Given the description of an element on the screen output the (x, y) to click on. 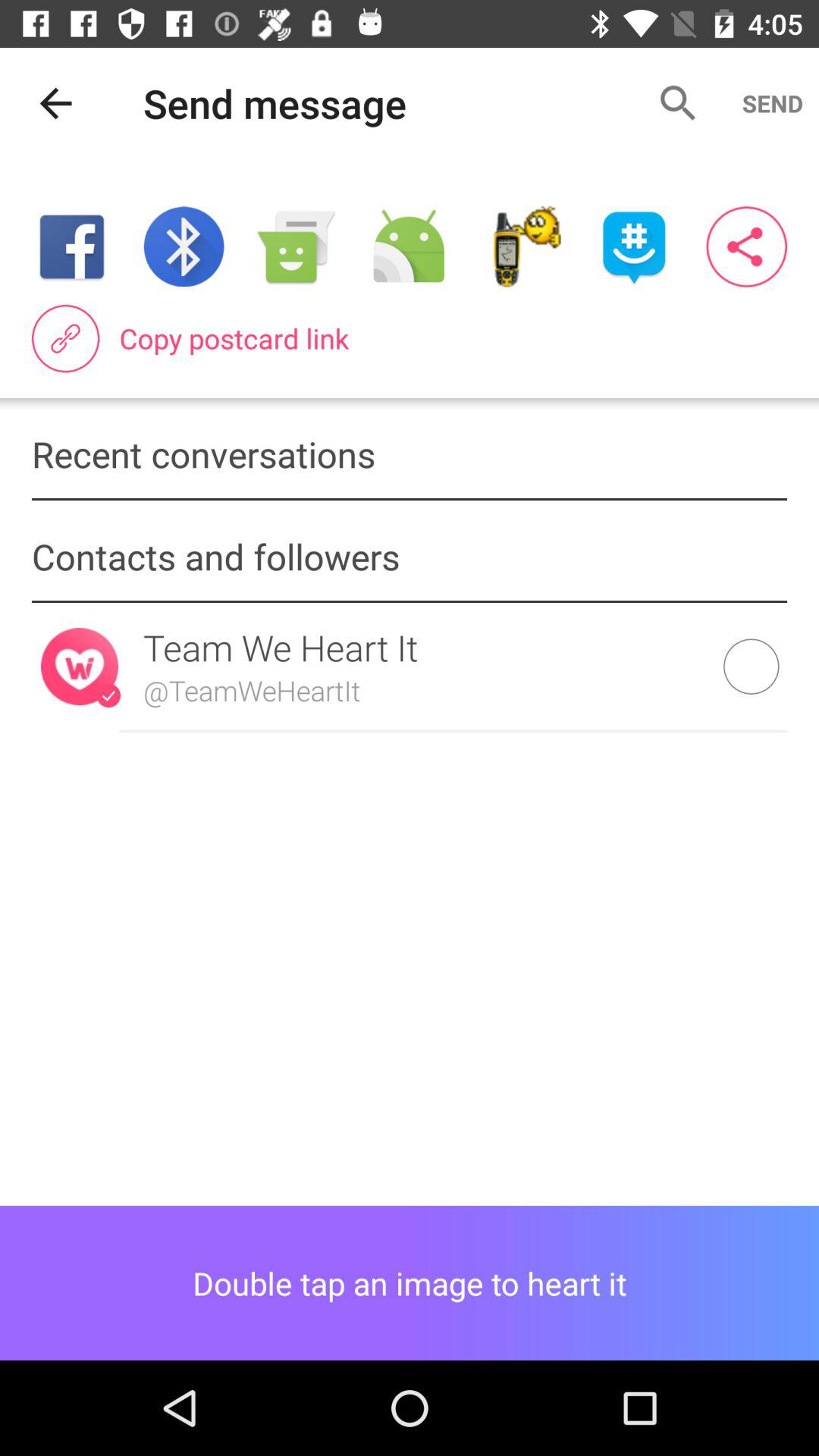
switch sending app (633, 246)
